Given the description of an element on the screen output the (x, y) to click on. 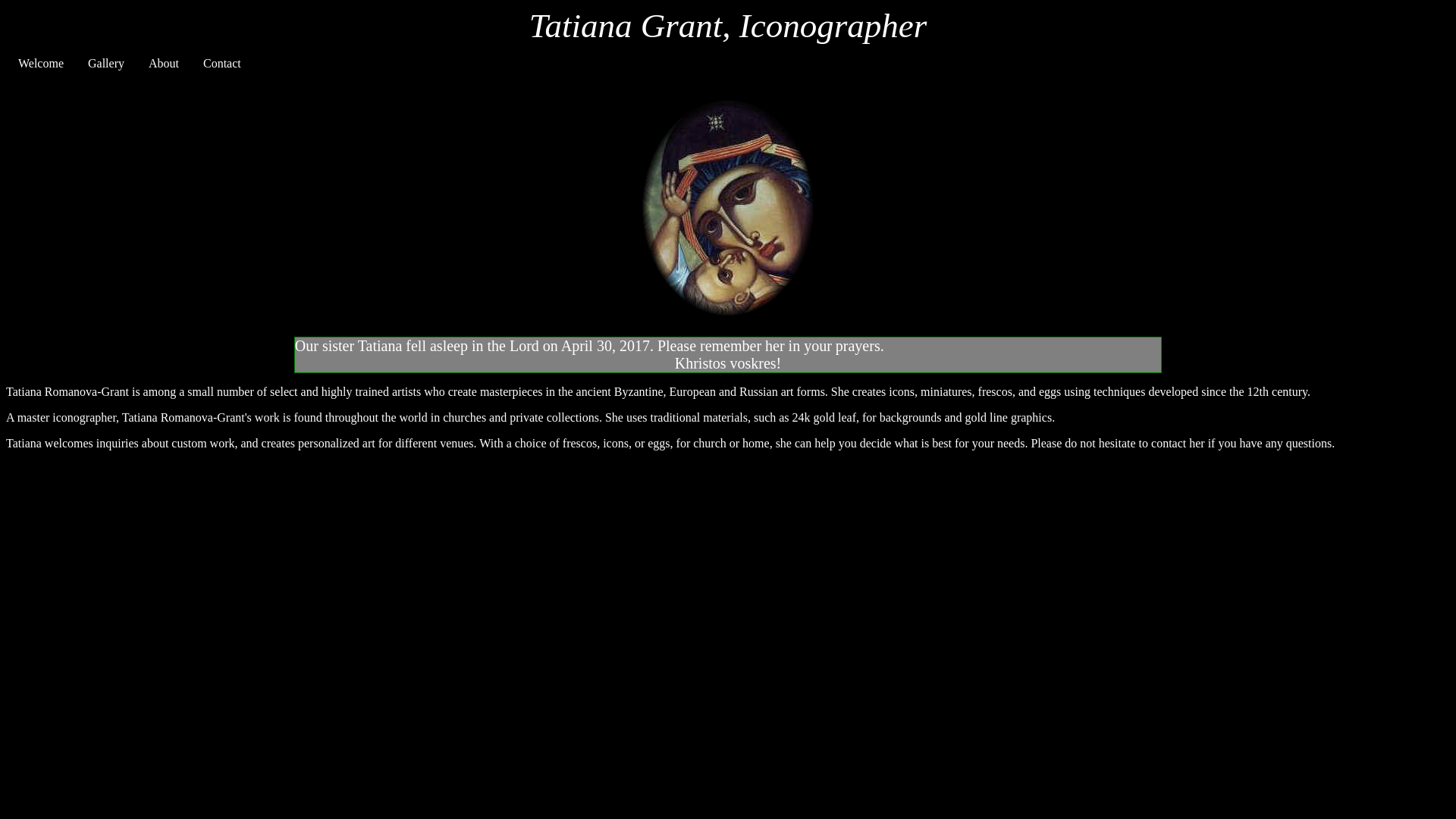
About (163, 63)
Contact (221, 63)
Gallery (105, 63)
Welcome (40, 63)
